Given the description of an element on the screen output the (x, y) to click on. 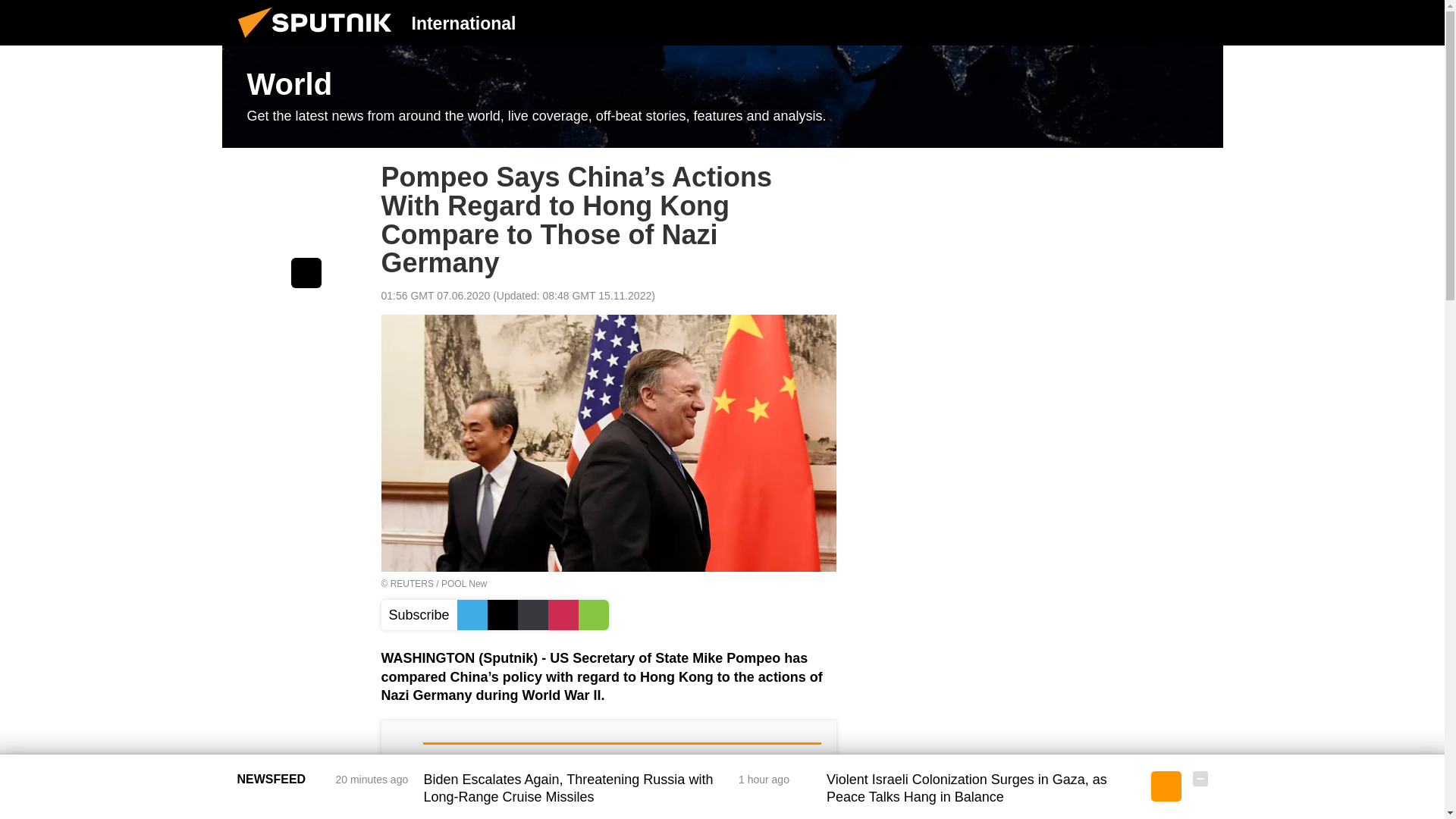
Sputnik International (319, 41)
World (722, 96)
Authorization (1123, 22)
Chats (1199, 22)
